Given the description of an element on the screen output the (x, y) to click on. 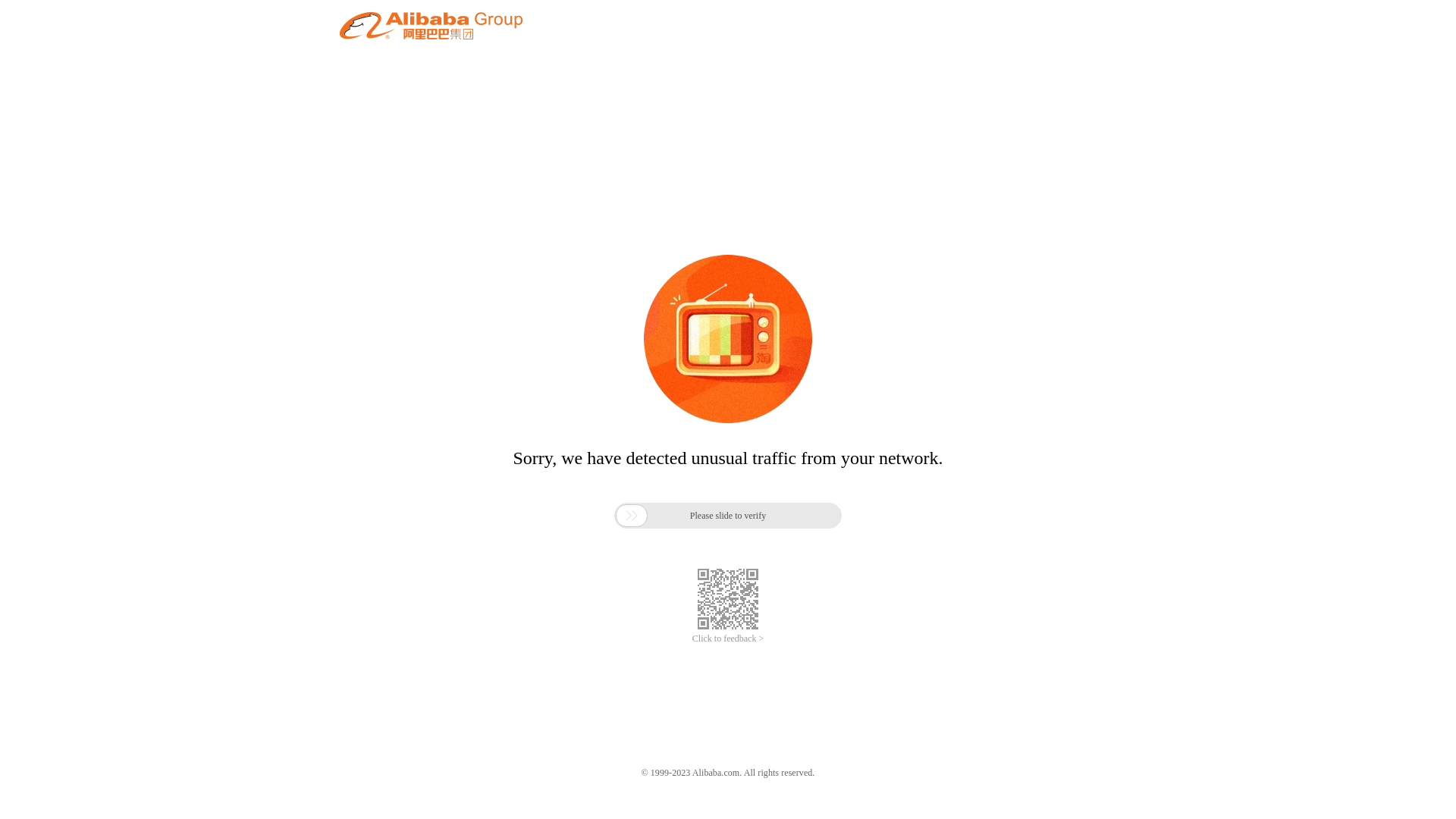
Click to feedback > Element type: text (727, 638)
